Given the description of an element on the screen output the (x, y) to click on. 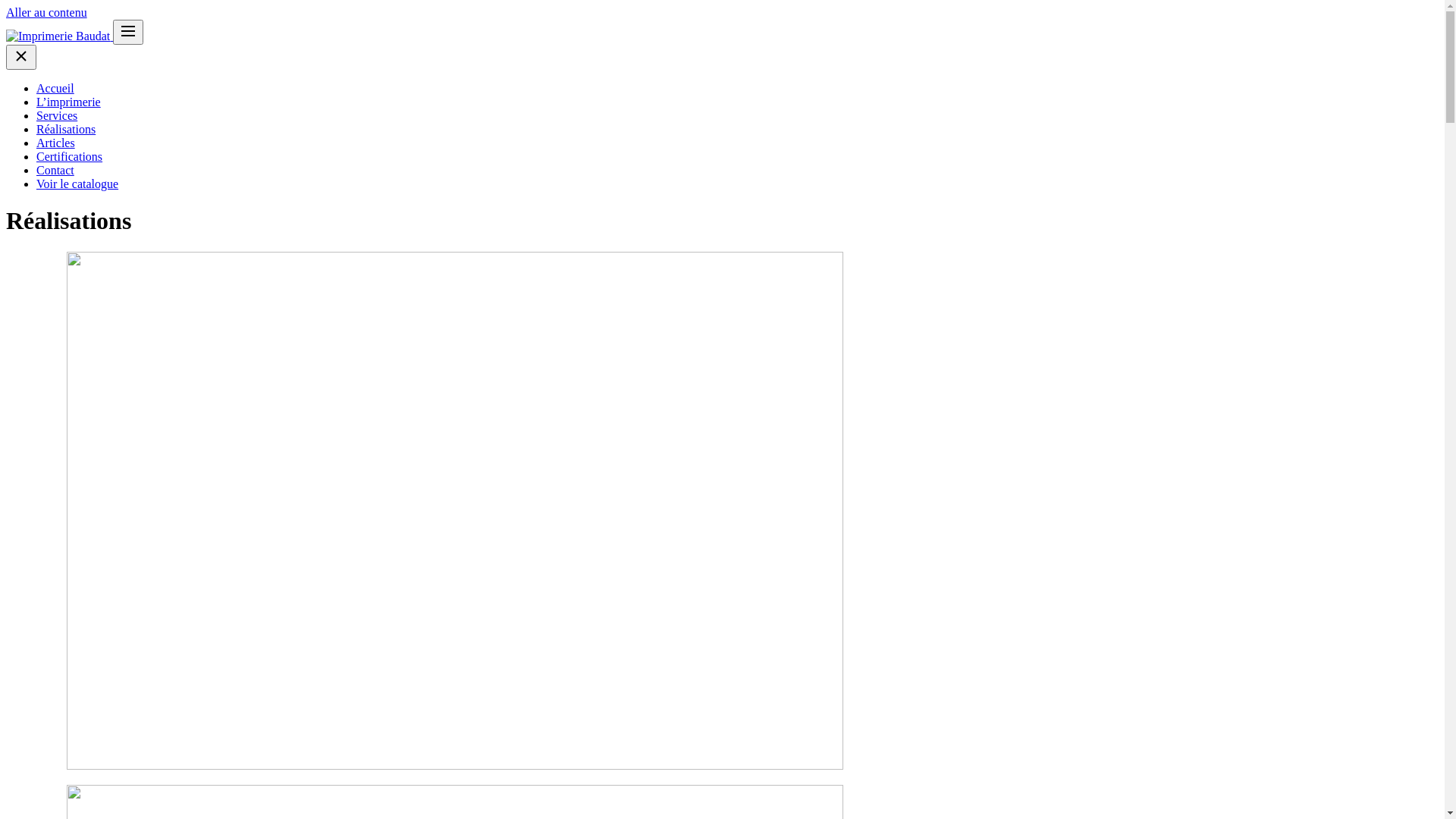
Contact Element type: text (55, 169)
Services Element type: text (56, 115)
Aller au contenu Element type: text (46, 12)
Articles Element type: text (55, 142)
Voir le catalogue Element type: text (77, 183)
Certifications Element type: text (69, 156)
Accueil Element type: text (55, 87)
